Given the description of an element on the screen output the (x, y) to click on. 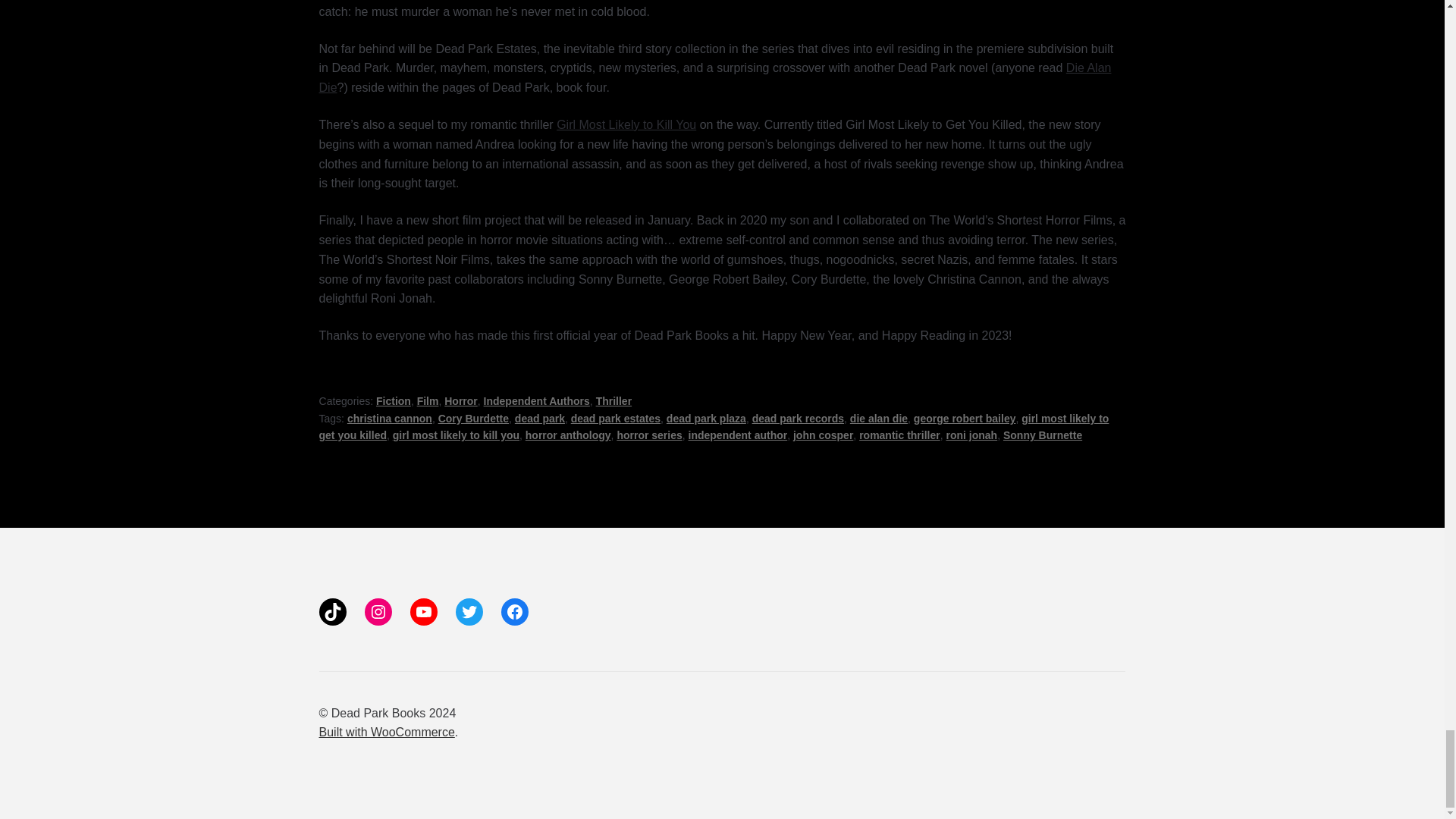
WooCommerce - The Best eCommerce Platform for WordPress (386, 731)
